Given the description of an element on the screen output the (x, y) to click on. 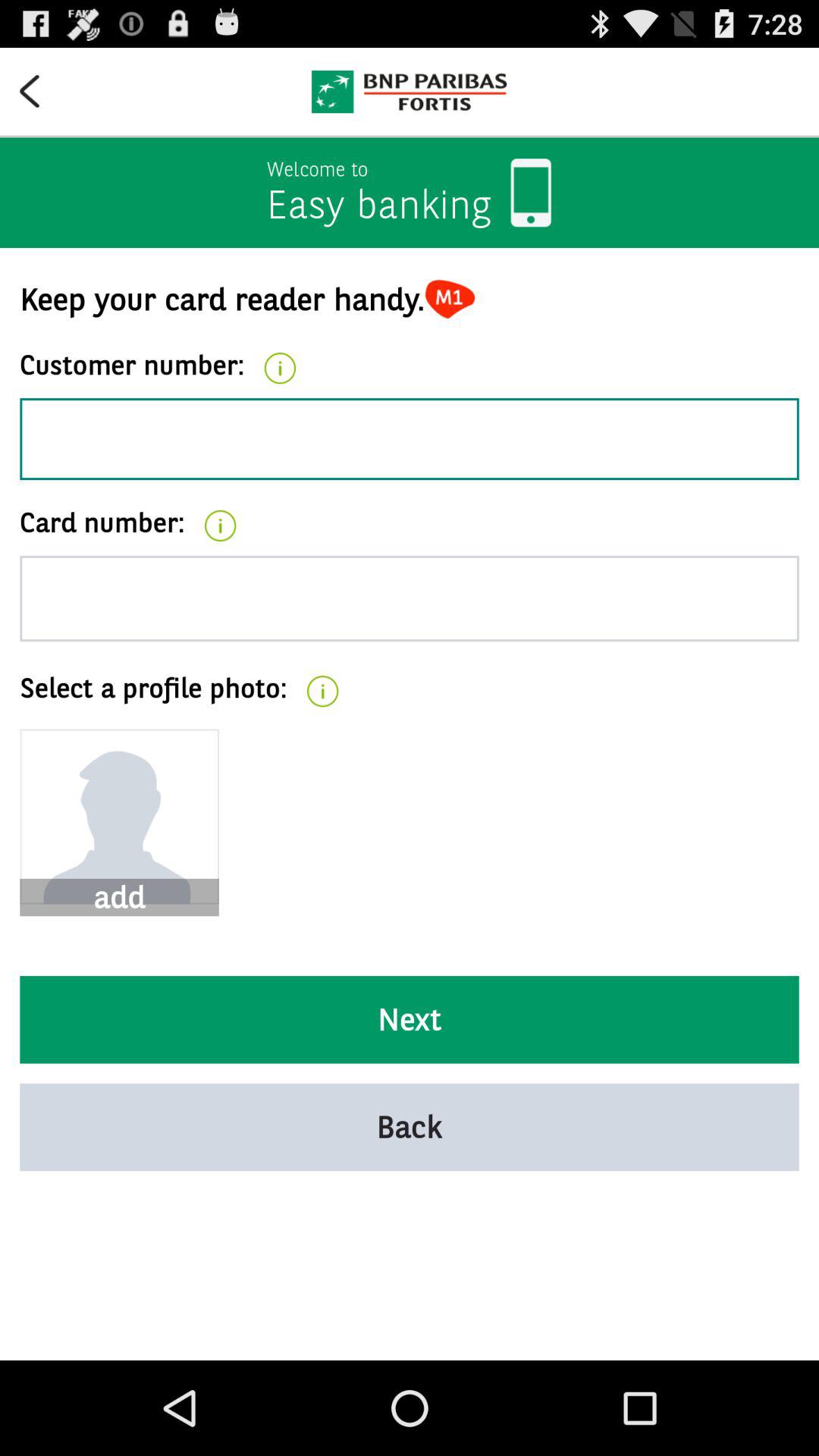
flip until next icon (409, 1019)
